Given the description of an element on the screen output the (x, y) to click on. 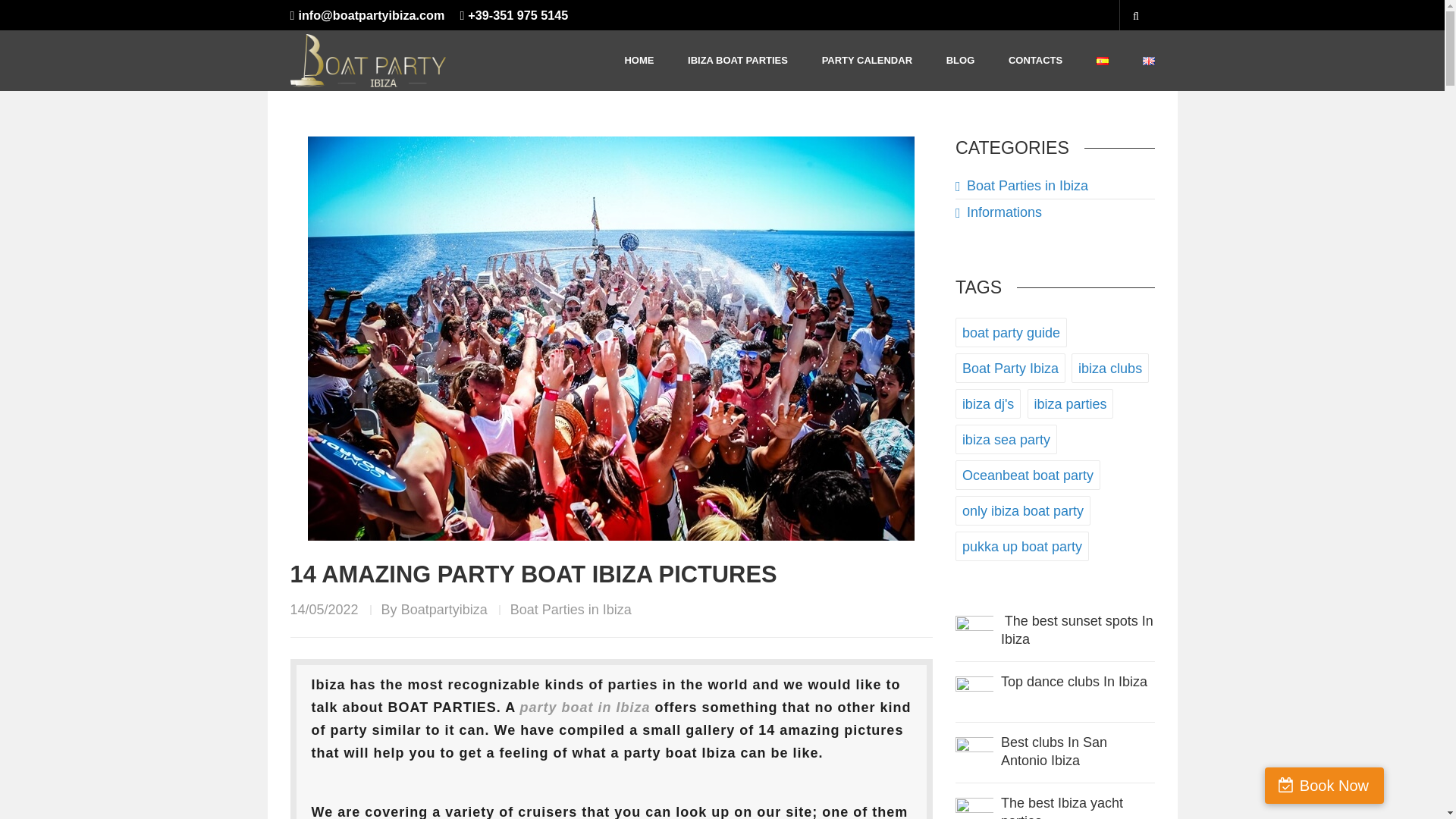
Top dance clubs In Ibiza (973, 695)
boat party guide (1011, 332)
ibiza clubs (1109, 367)
Best clubs In San Antonio Ibiza (1053, 750)
Informations (998, 212)
Boat Parties in Ibiza (1021, 185)
PARTY CALENDAR (867, 60)
Boat Parties in Ibiza (571, 609)
Boatpartyibiza (444, 609)
Boat Party Ibiza (1010, 367)
